Given the description of an element on the screen output the (x, y) to click on. 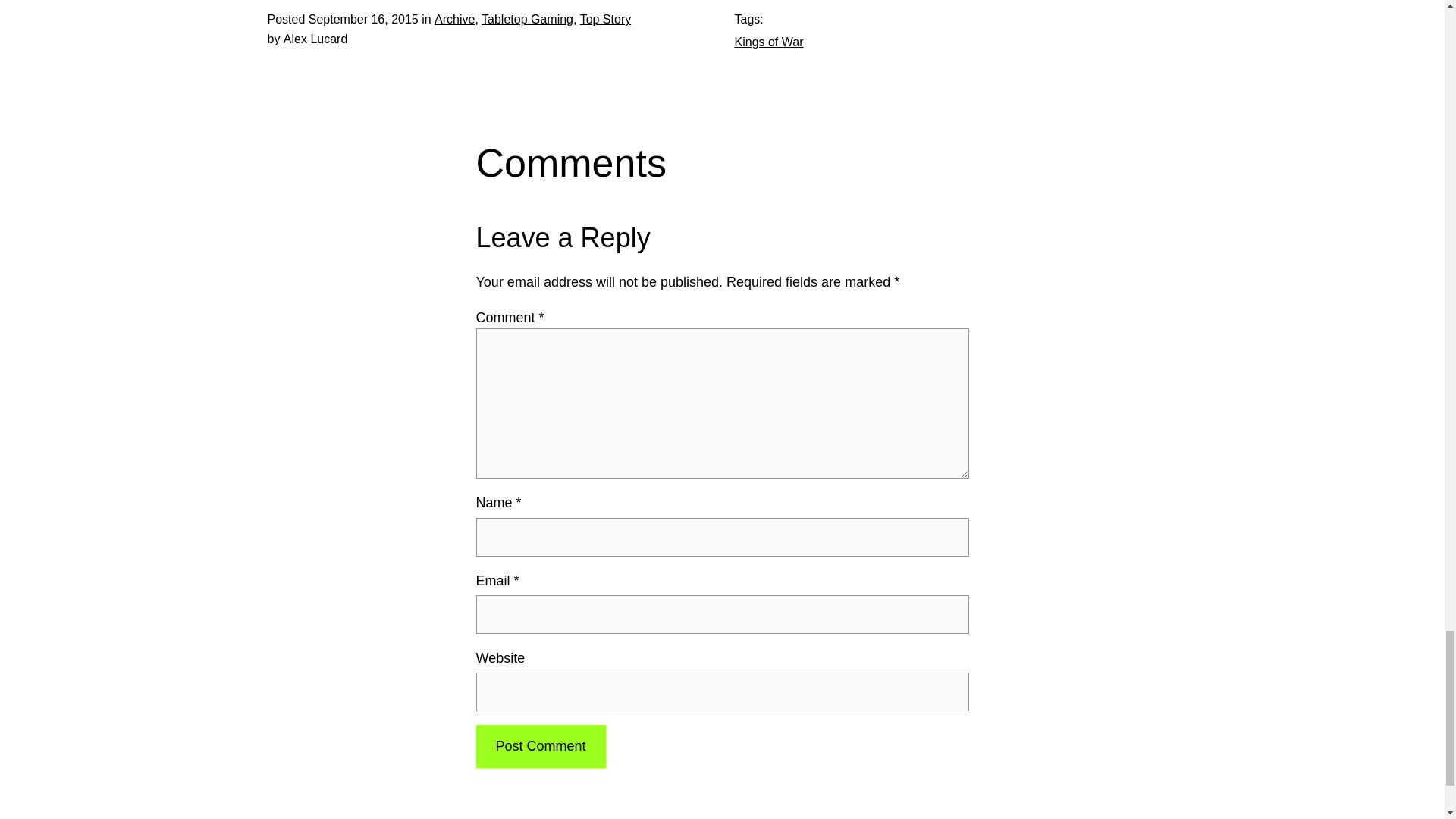
Top Story (605, 19)
Post Comment (540, 746)
Archive (453, 19)
Post Comment (540, 746)
Tabletop Gaming (527, 19)
Kings of War (768, 42)
